Given the description of an element on the screen output the (x, y) to click on. 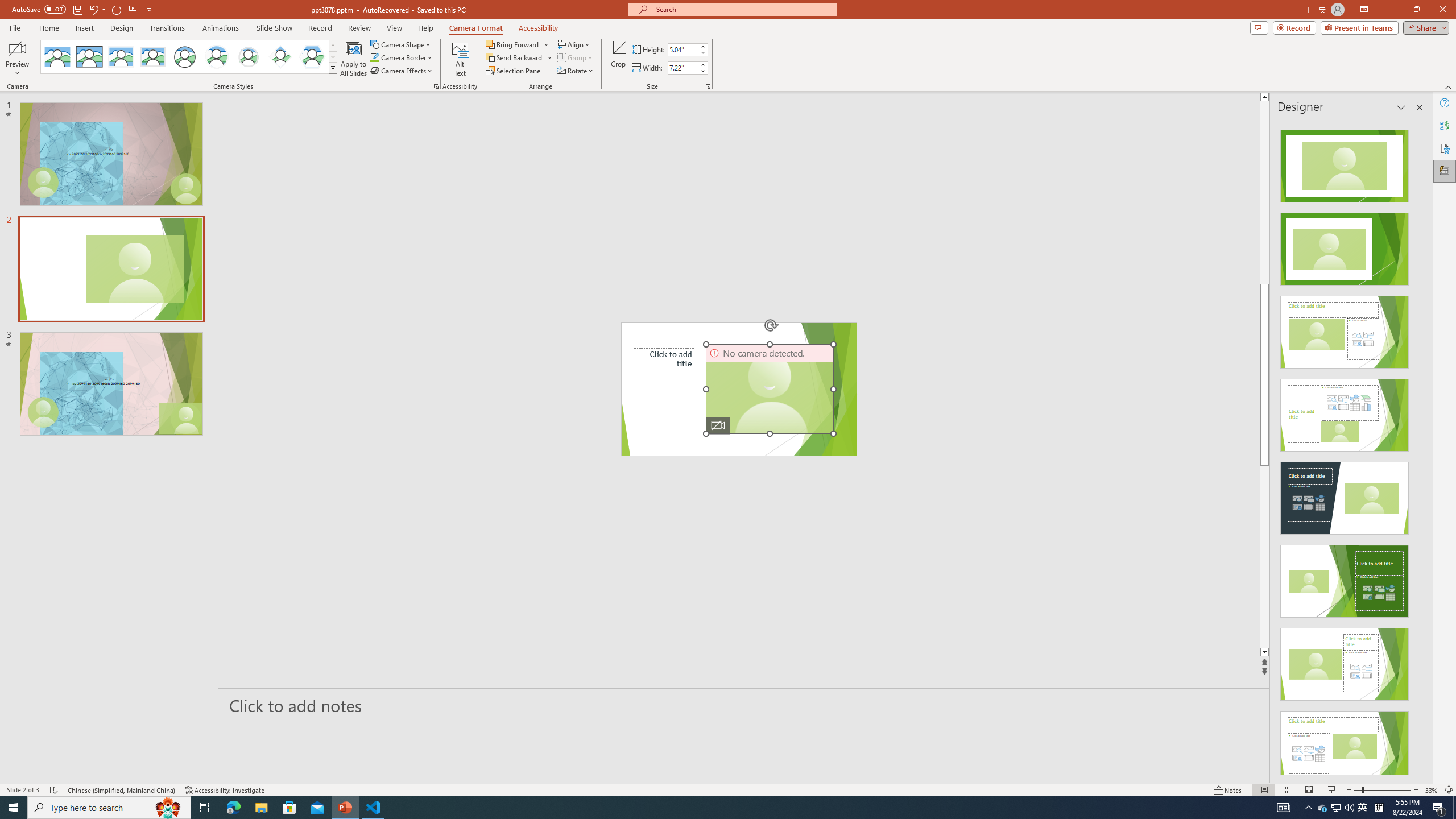
Alt Text (459, 58)
Camera Border Green, Accent 1 (374, 56)
Center Shadow Diamond (280, 56)
Cameo Height (682, 49)
Design Idea (1344, 743)
Enable Camera Preview (17, 48)
Recommended Design: Design Idea (1344, 162)
Selection Pane... (513, 69)
